Given the description of an element on the screen output the (x, y) to click on. 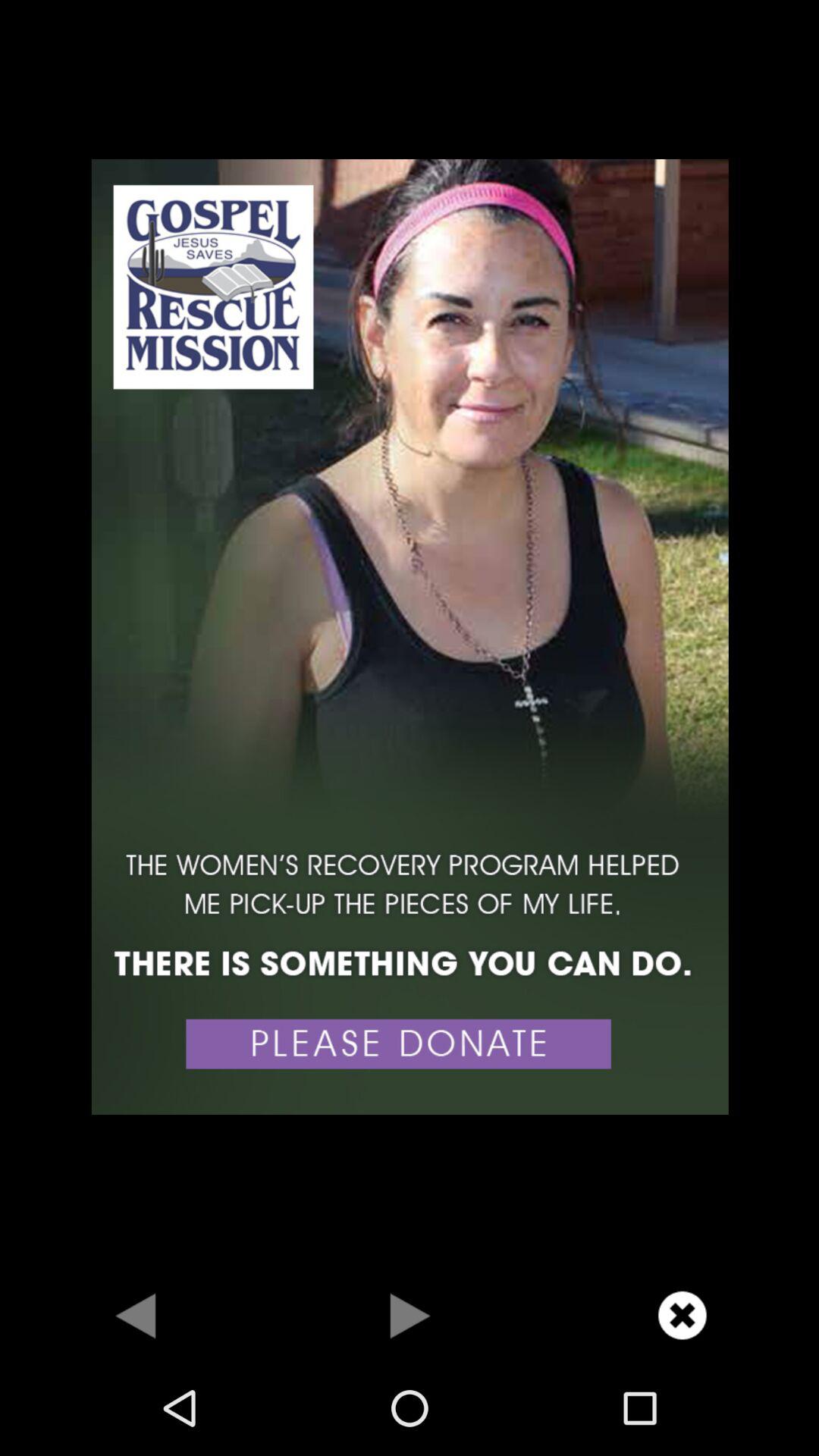
close (682, 1315)
